Given the description of an element on the screen output the (x, y) to click on. 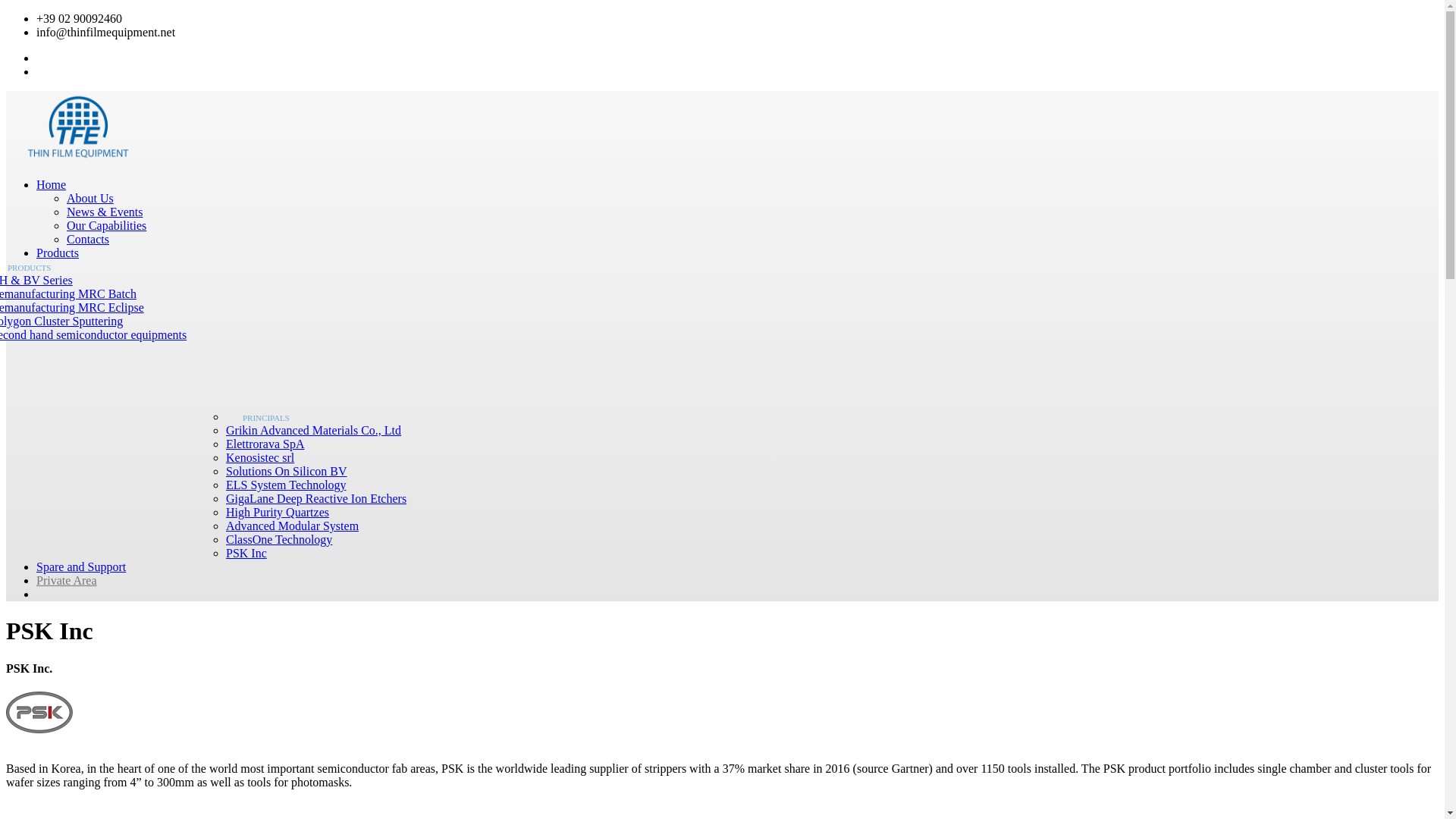
Home (50, 184)
Advanced Modular System (291, 525)
ELS System Technology (285, 484)
thin film equipment logo (77, 126)
Second hand semiconductor equipments (93, 334)
Remanufacturing MRC Batch (68, 293)
Private Area (66, 580)
Remanufacturing MRC Eclipse (72, 307)
Contacts (87, 238)
Kenosistec srl (259, 457)
